Given the description of an element on the screen output the (x, y) to click on. 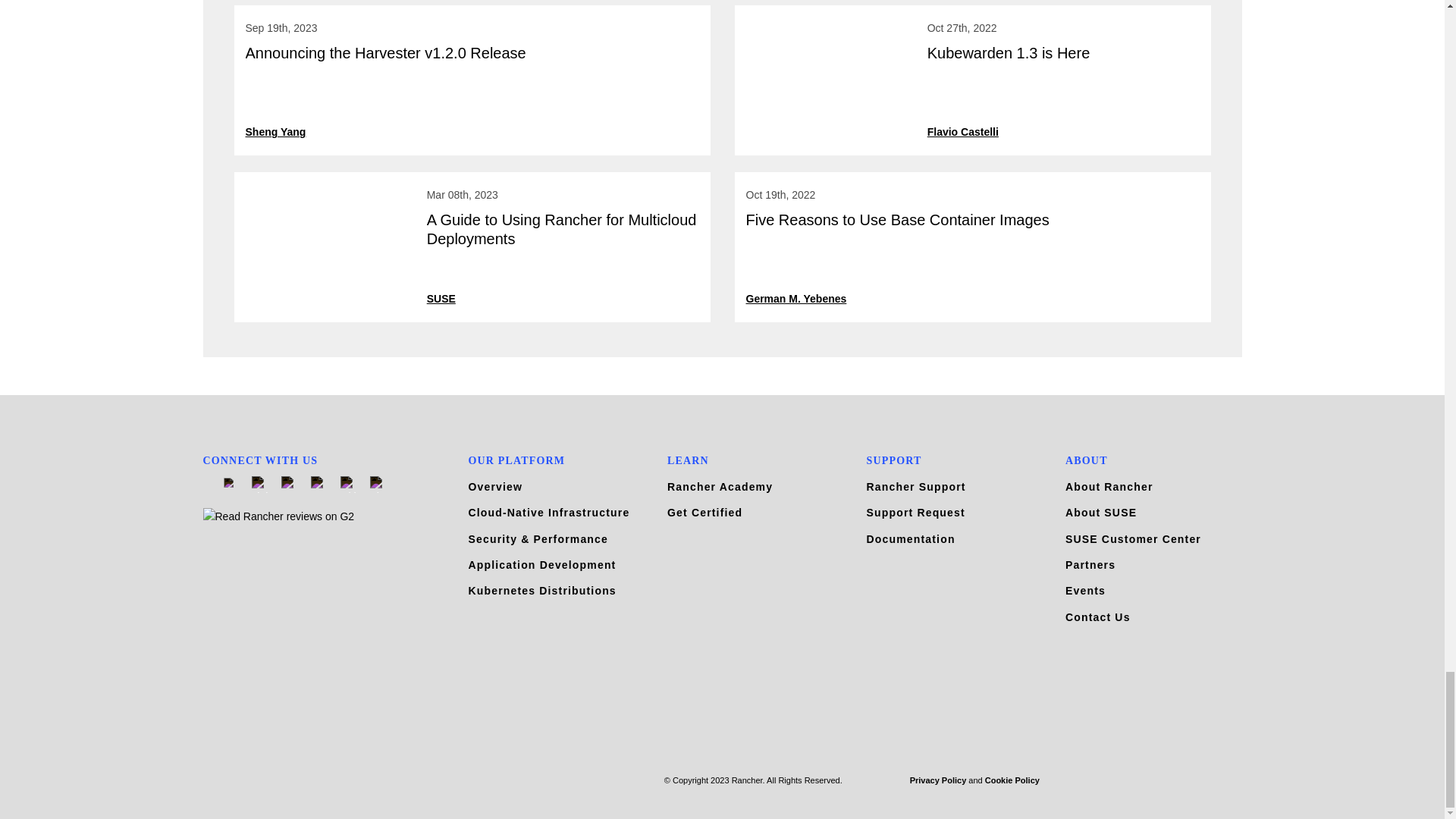
Posts by Flavio Castelli (962, 132)
Posts by SUSE (440, 298)
Read reviews of Rancher on G2 (324, 515)
Posts by German M. Yebenes (796, 298)
Posts by Sheng Yang (275, 132)
